Given the description of an element on the screen output the (x, y) to click on. 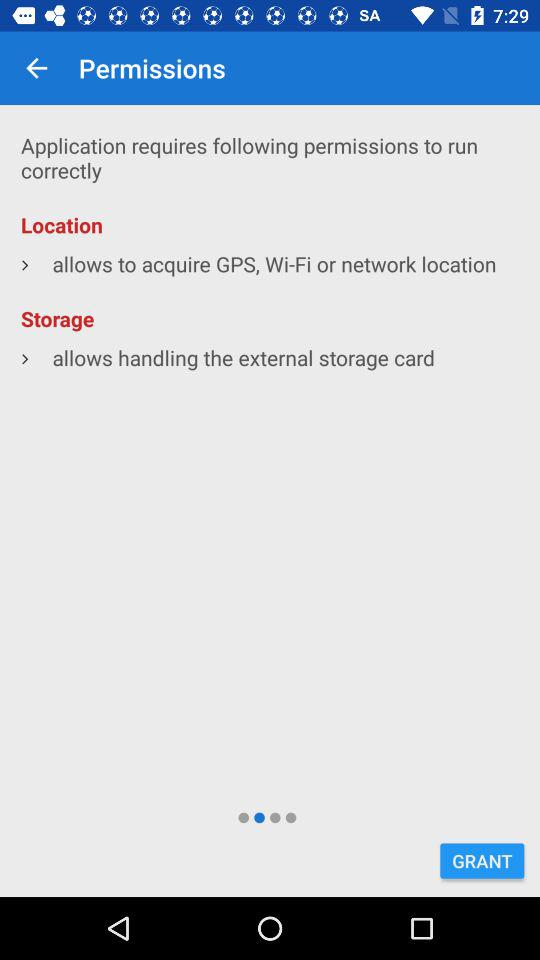
launch app above application requires following icon (36, 68)
